Given the description of an element on the screen output the (x, y) to click on. 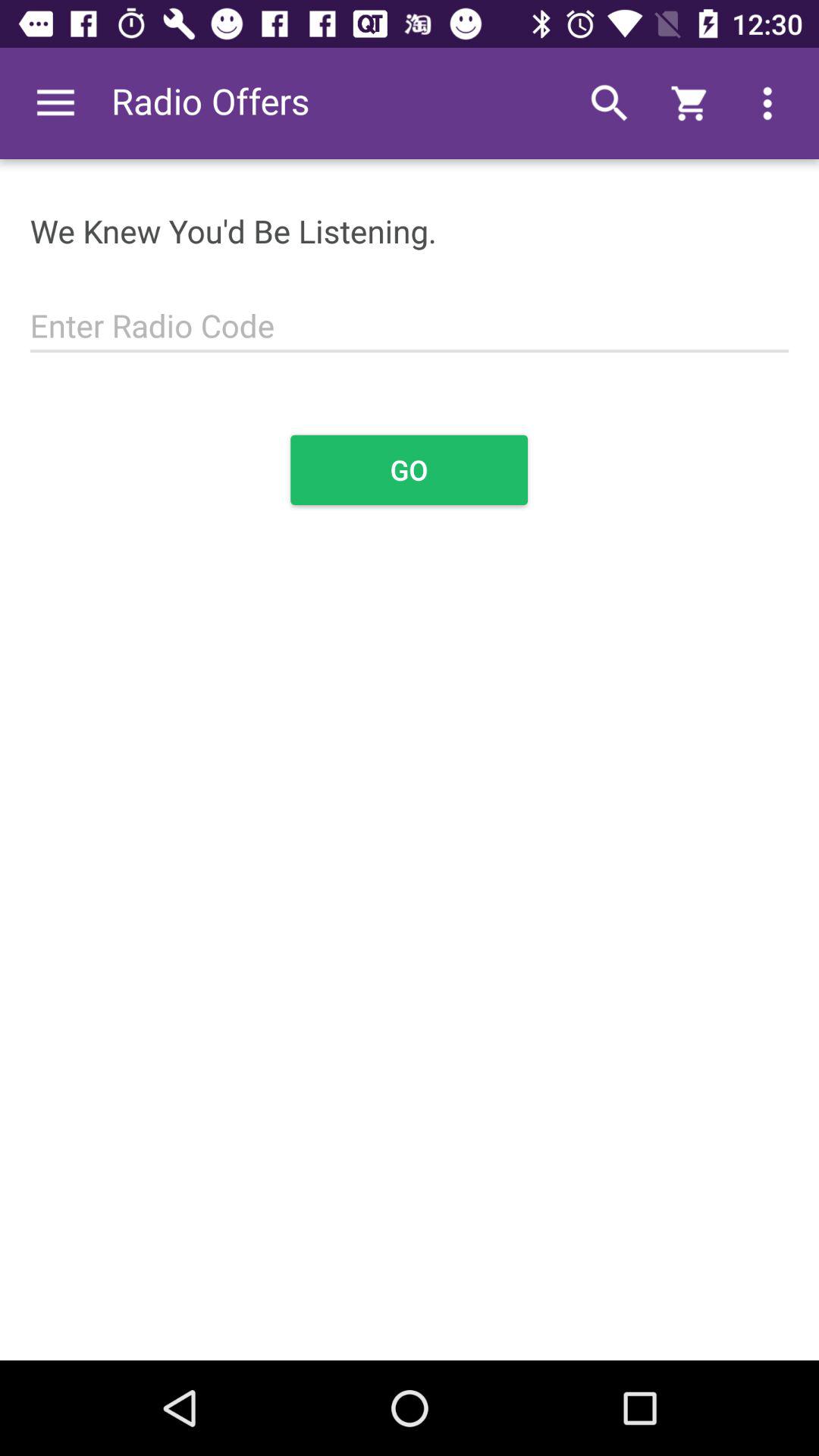
press the icon to the left of the radio offers item (55, 103)
